Given the description of an element on the screen output the (x, y) to click on. 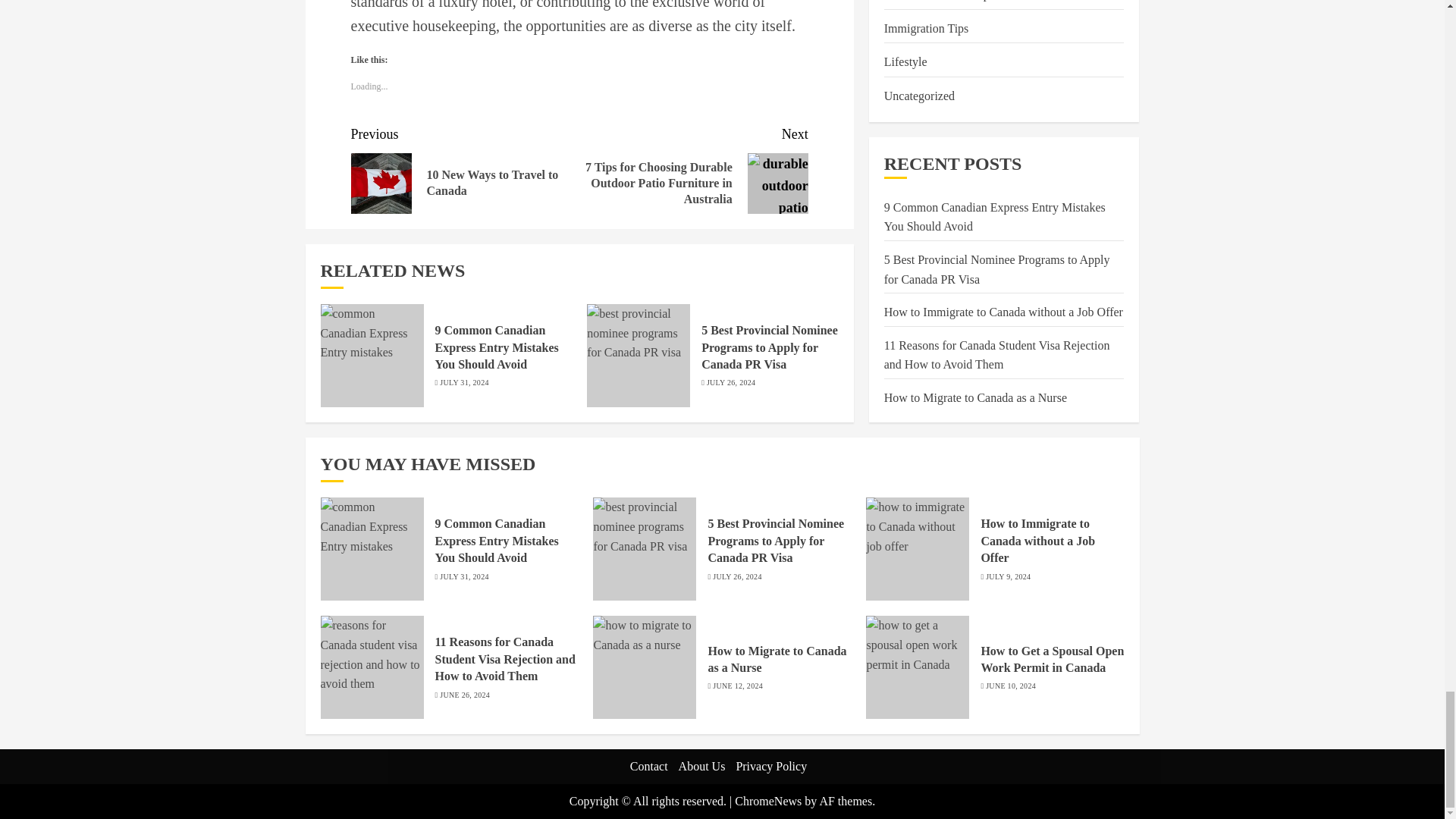
JULY 26, 2024 (730, 382)
9 Common Canadian Express Entry Mistakes You Should Avoid (464, 168)
JULY 31, 2024 (497, 347)
